Given the description of an element on the screen output the (x, y) to click on. 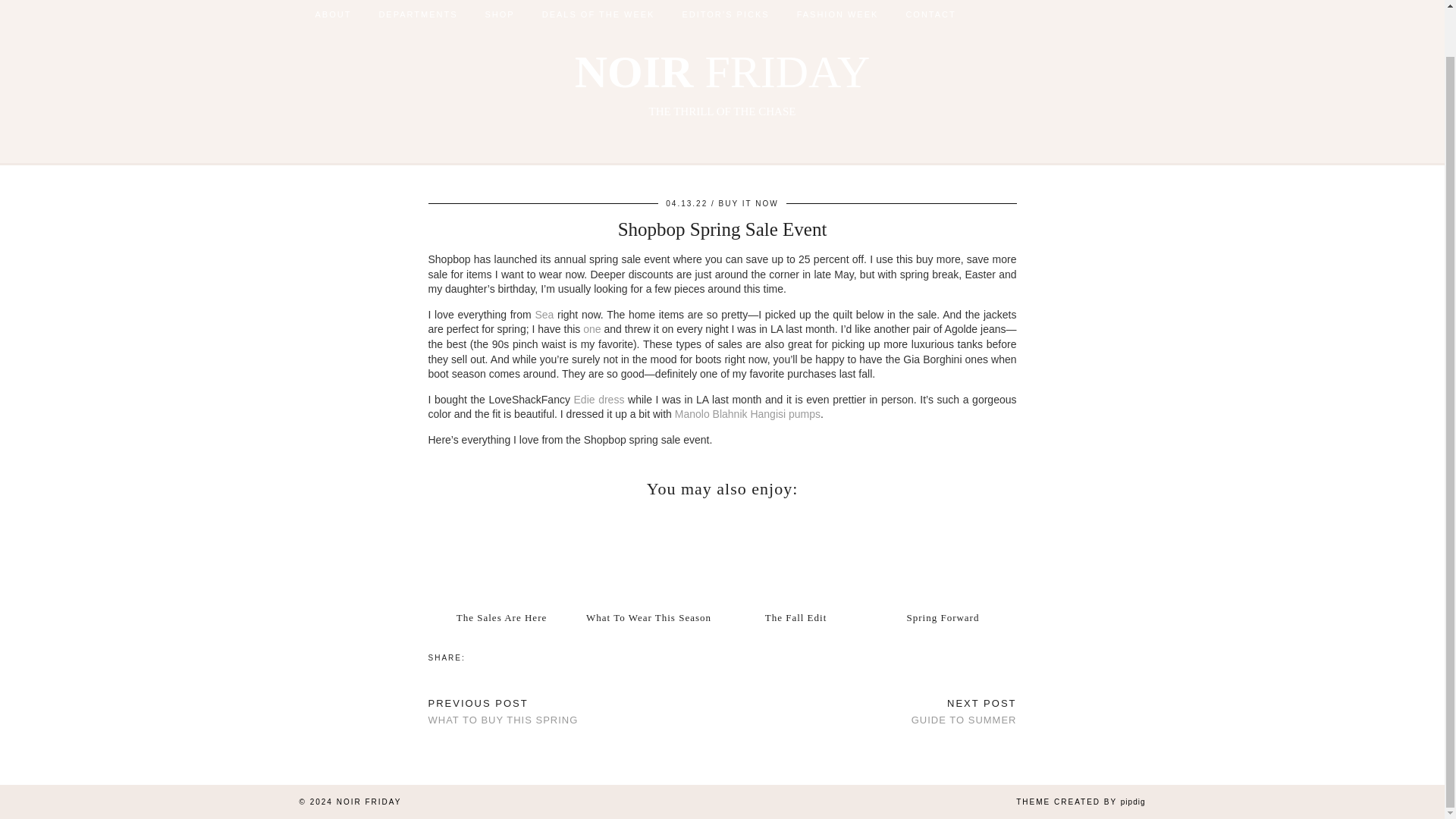
The Fall Edit (795, 555)
one (591, 328)
Noir Friday (721, 83)
The Sales Are Here (501, 555)
The Fall Edit (796, 617)
BUY IT NOW (721, 83)
What To Wear This Season (748, 203)
Sea (648, 555)
The Sales Are Here (543, 314)
Spring Forward (502, 617)
What To Wear This Season (942, 555)
